Given the description of an element on the screen output the (x, y) to click on. 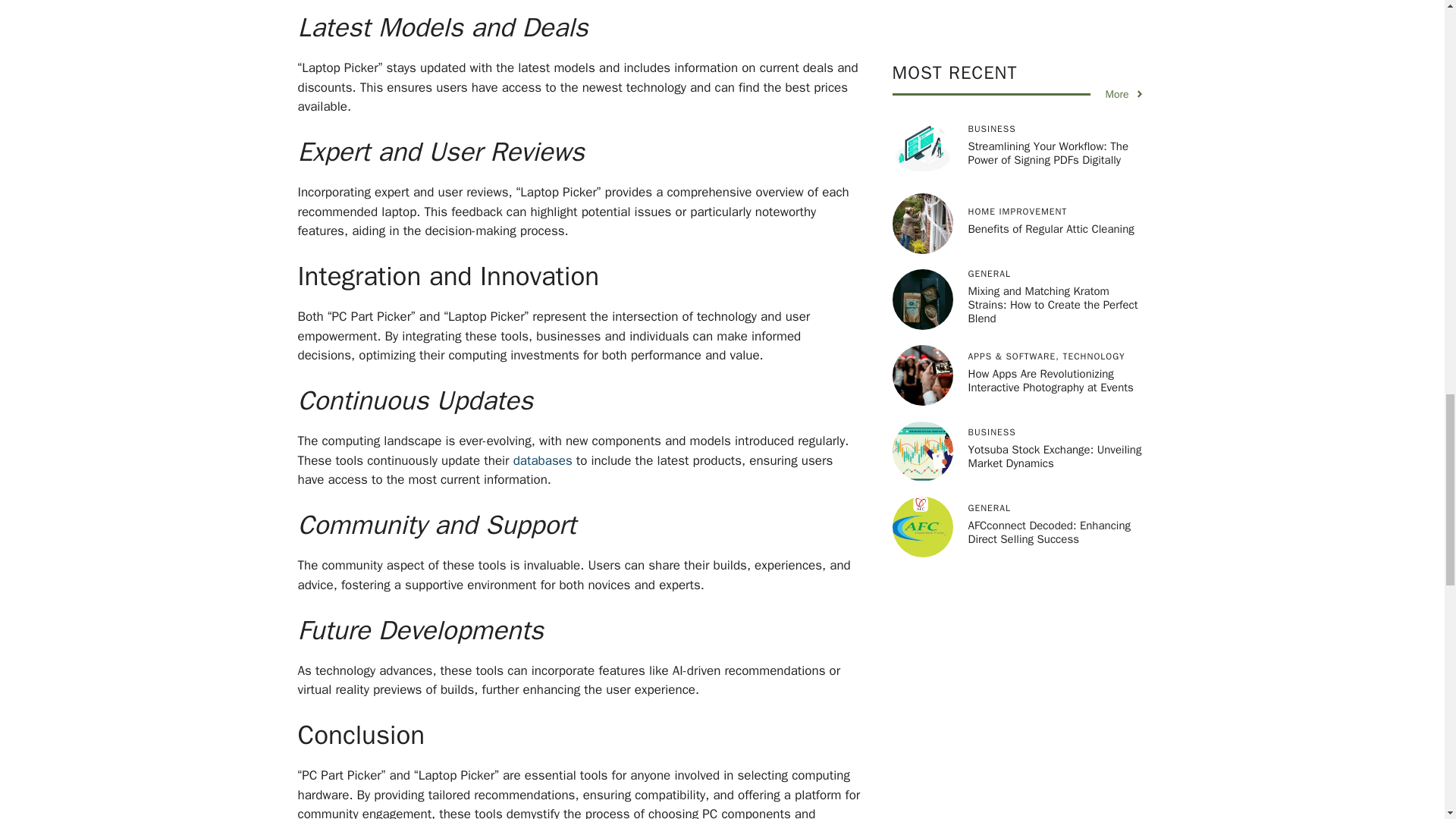
databases (542, 459)
